Given the description of an element on the screen output the (x, y) to click on. 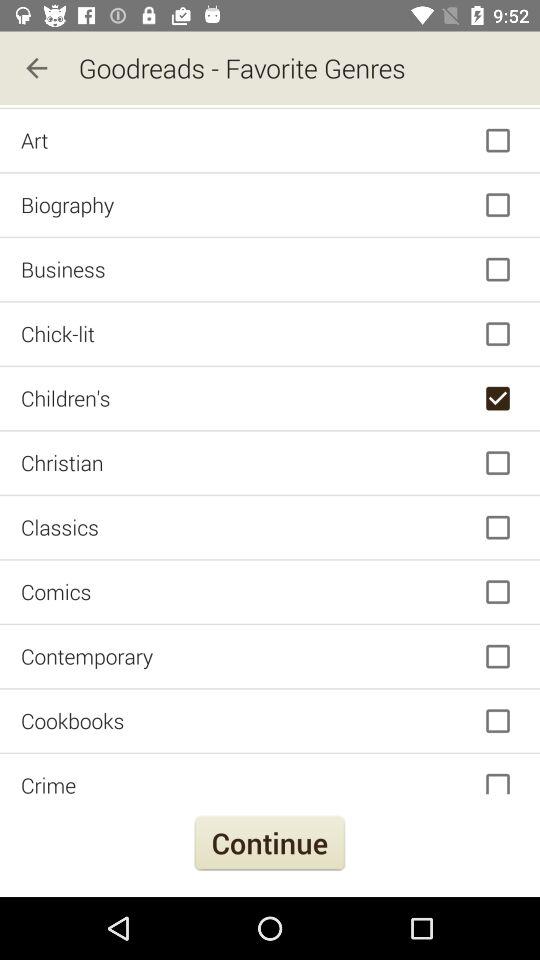
launch the icon above christian item (270, 398)
